Given the description of an element on the screen output the (x, y) to click on. 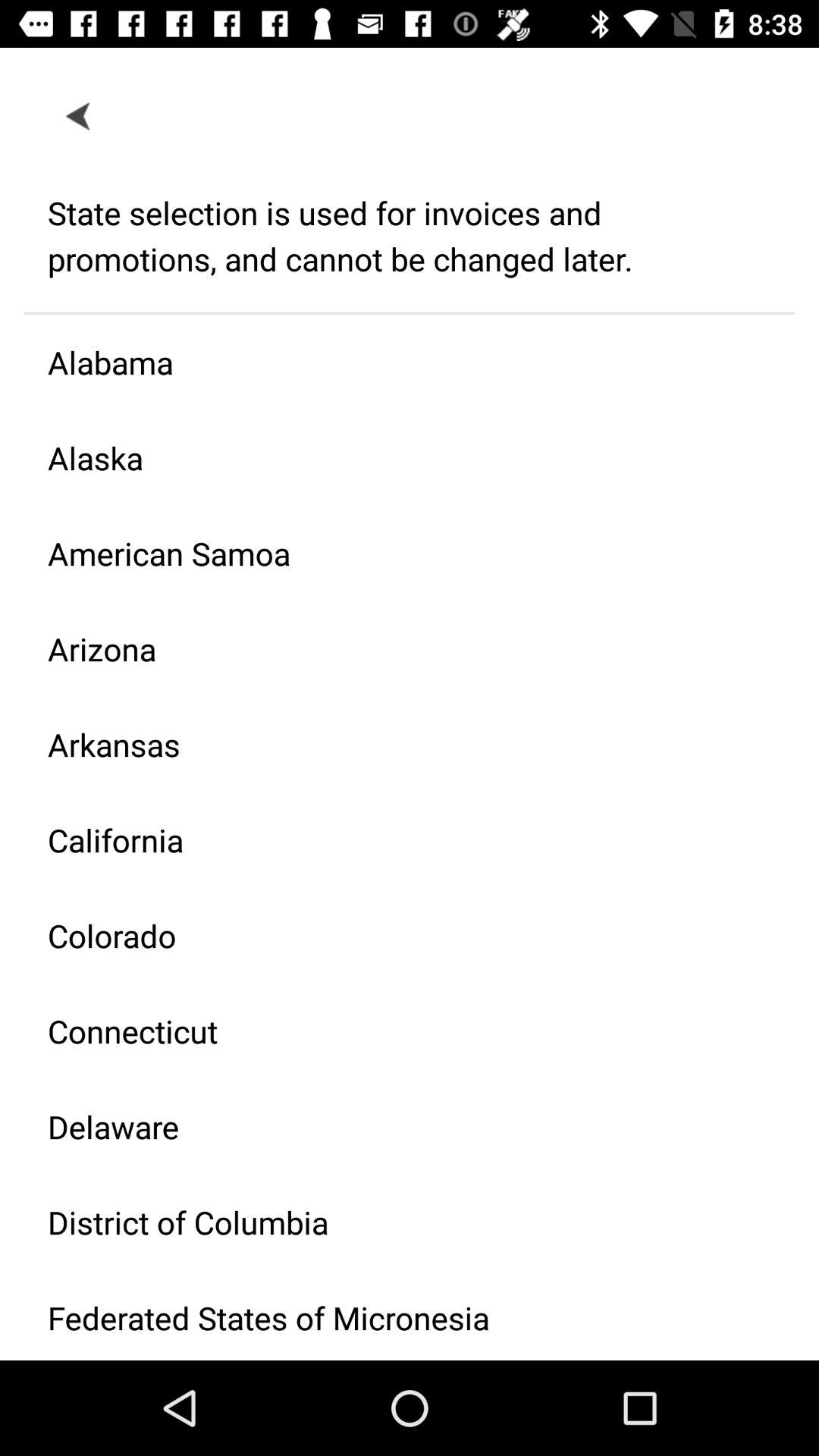
jump to federated states of item (397, 1316)
